Given the description of an element on the screen output the (x, y) to click on. 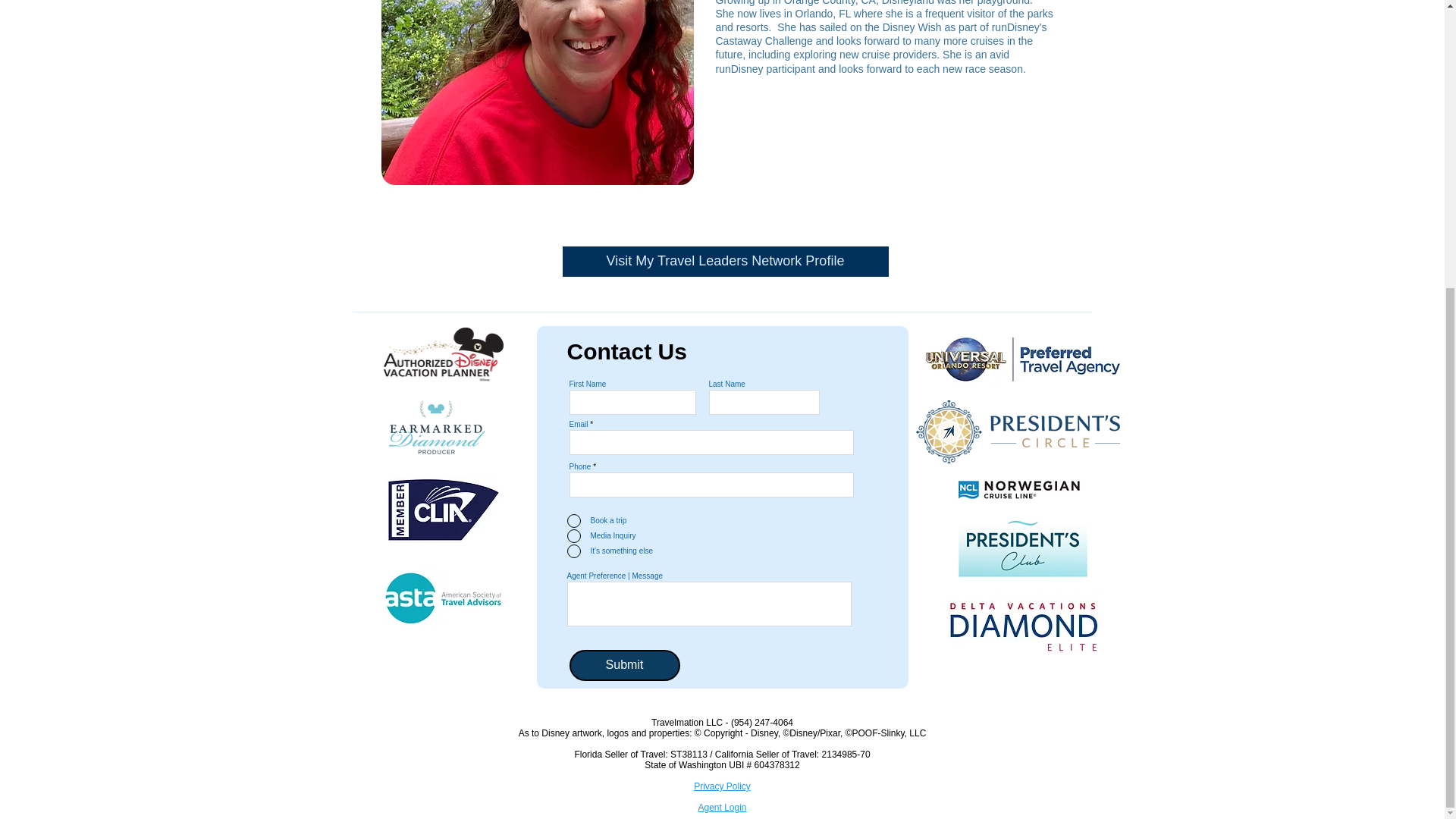
Visit My Travel Leaders Network Profile (725, 261)
Privacy Policy (722, 786)
Agent Login (721, 807)
Submit (624, 665)
